Given the description of an element on the screen output the (x, y) to click on. 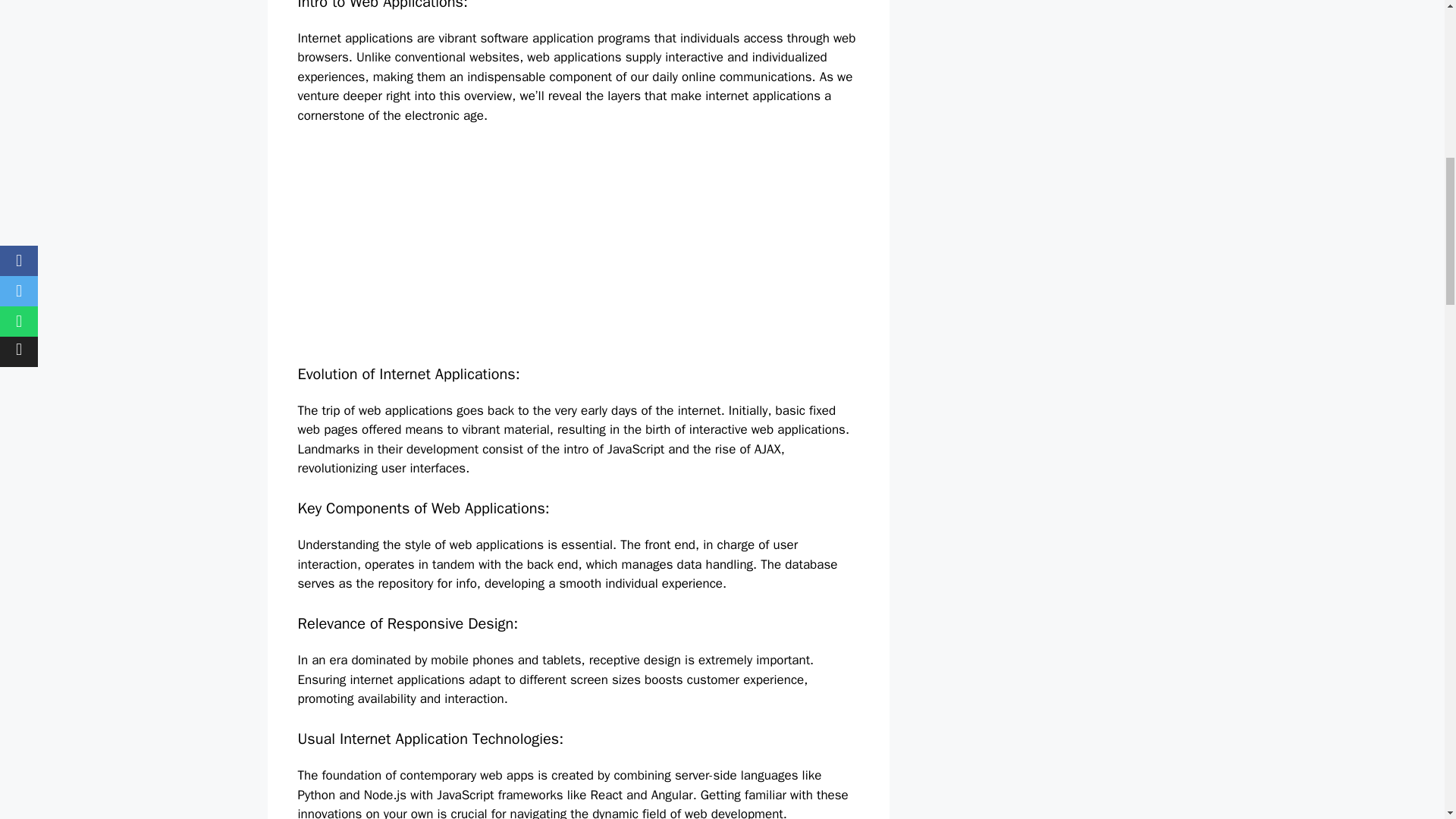
Advertisement (542, 250)
